Given the description of an element on the screen output the (x, y) to click on. 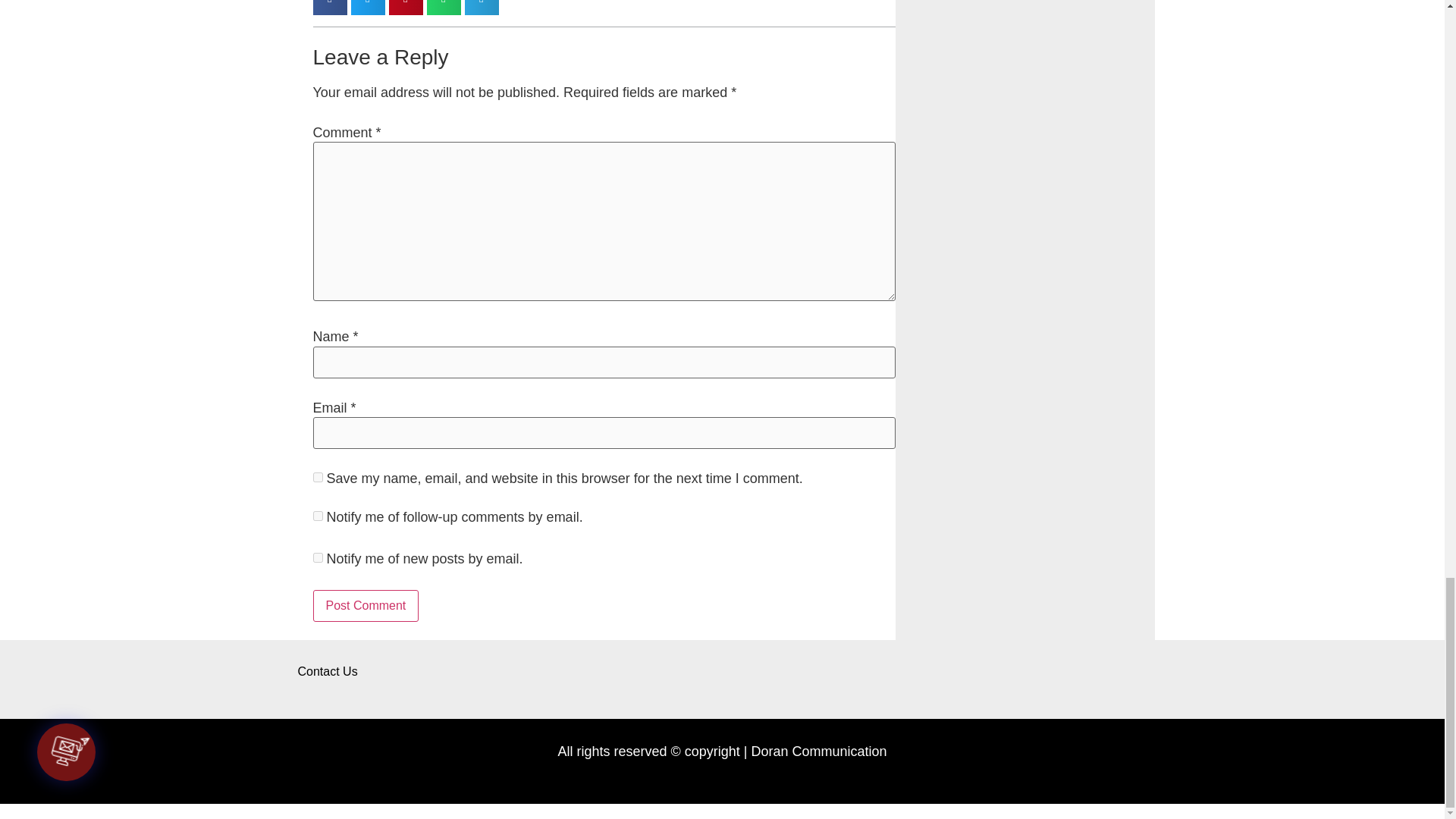
Post Comment (366, 605)
subscribe (317, 557)
subscribe (317, 515)
yes (317, 477)
